Given the description of an element on the screen output the (x, y) to click on. 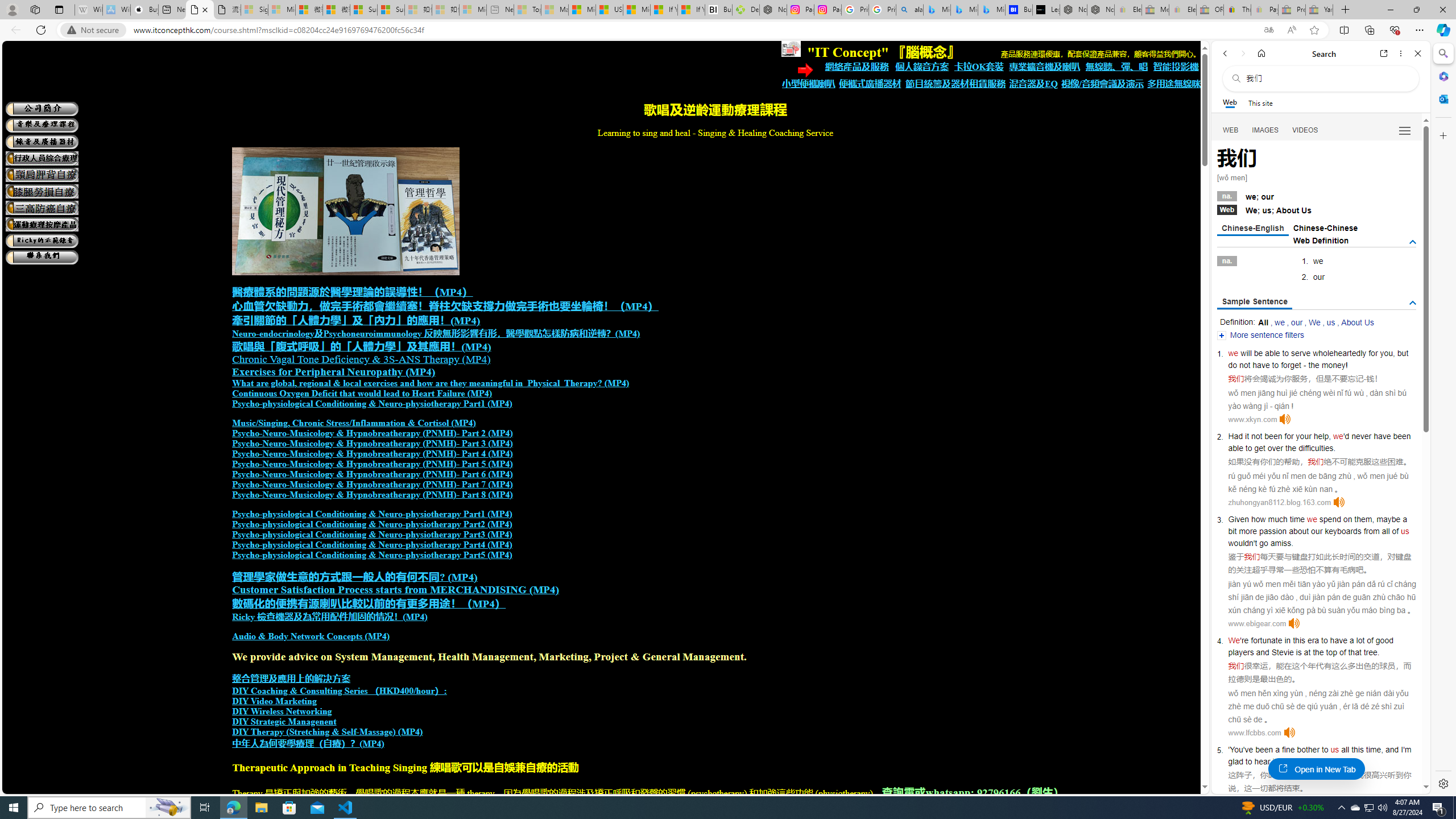
this (1357, 749)
Music/Singing, Chronic Stress/Inflammation & Cortisol (MP4) (353, 422)
You (1236, 749)
time (1297, 519)
zhuhongyan8112.blog.163.com (1278, 501)
spend (1329, 519)
